Given the description of an element on the screen output the (x, y) to click on. 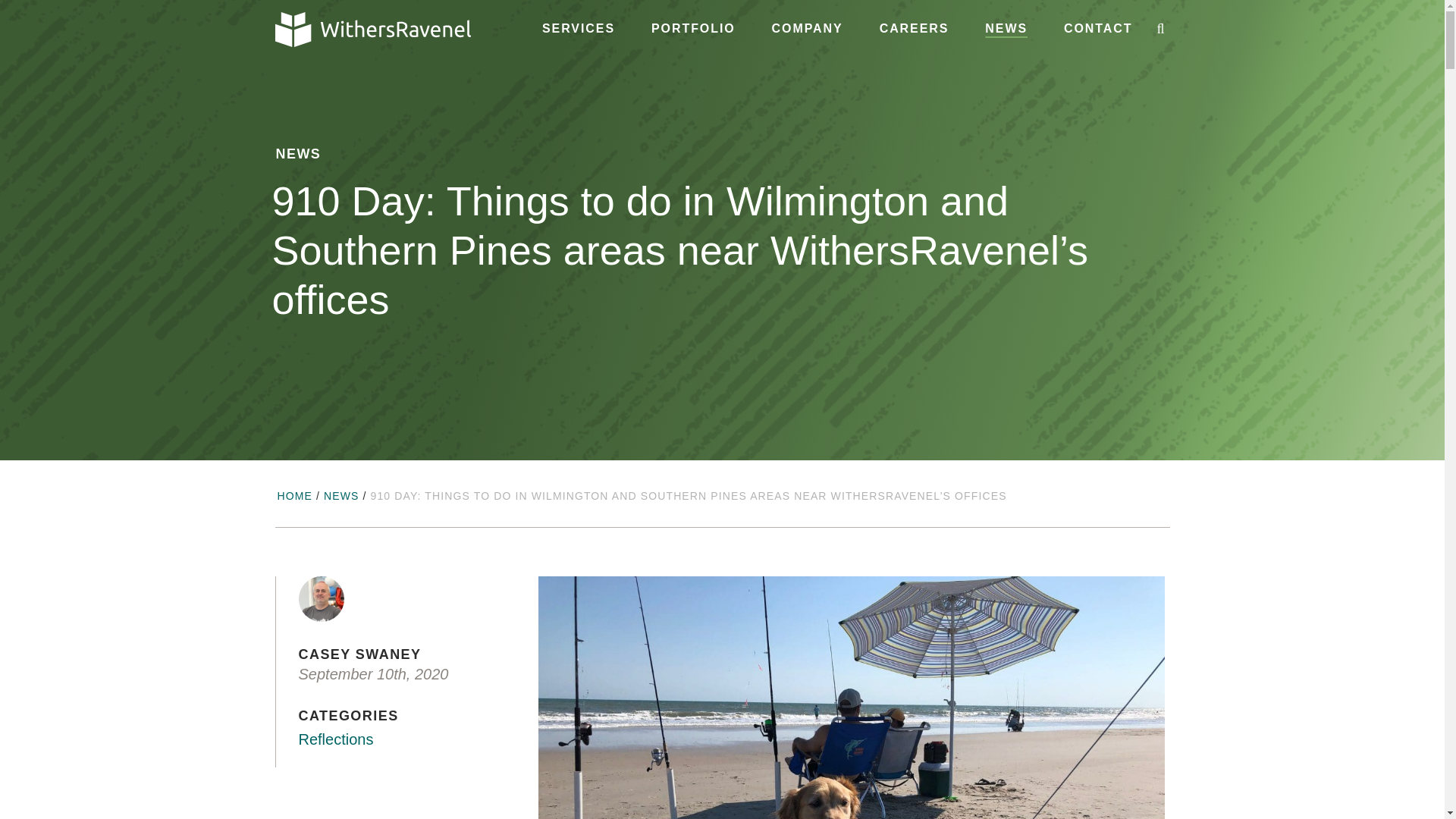
Visit Home Page (372, 29)
SERVICES (577, 28)
